Given the description of an element on the screen output the (x, y) to click on. 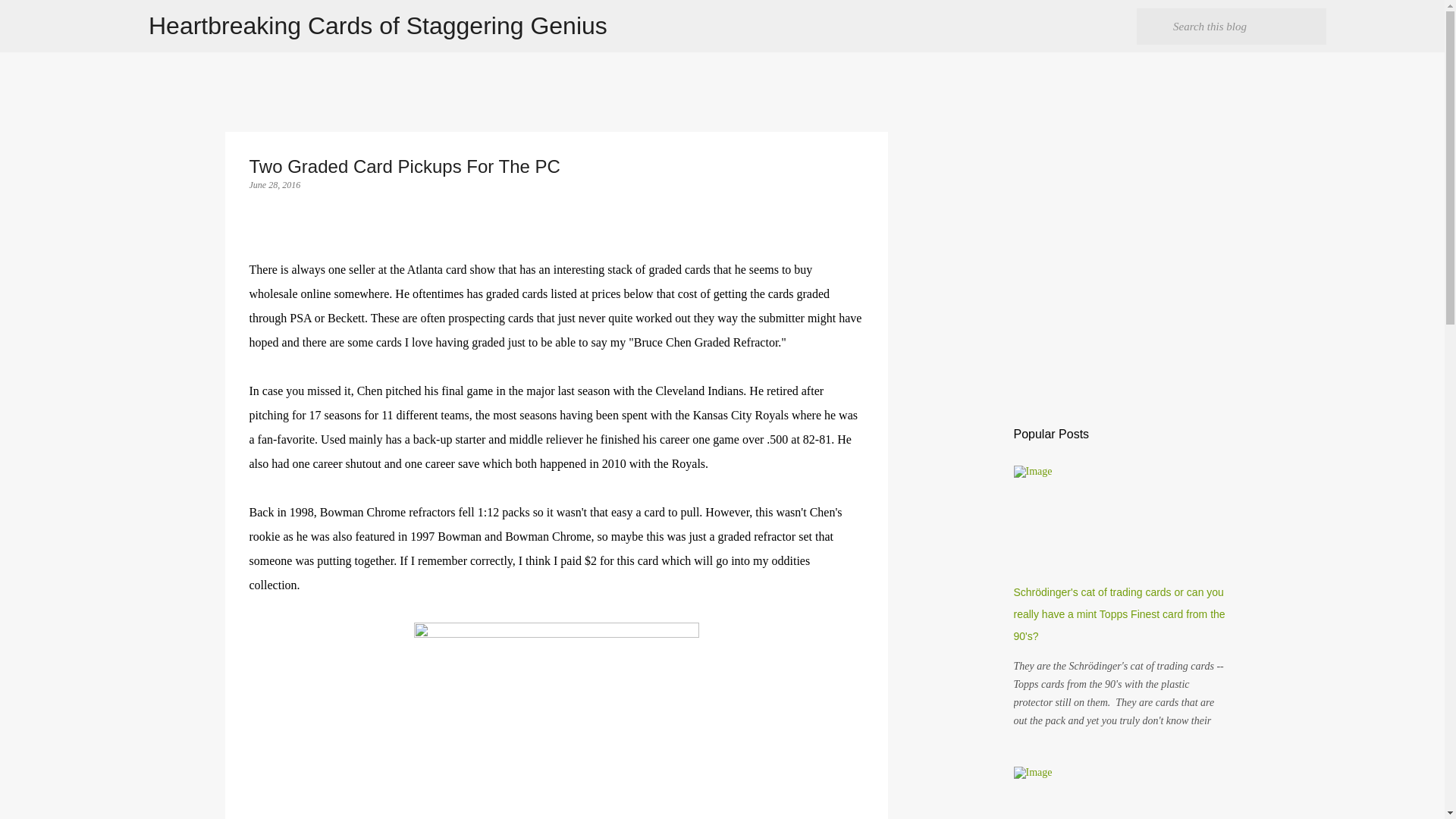
permanent link (273, 184)
June 28, 2016 (273, 184)
Heartbreaking Cards of Staggering Genius (377, 25)
